Given the description of an element on the screen output the (x, y) to click on. 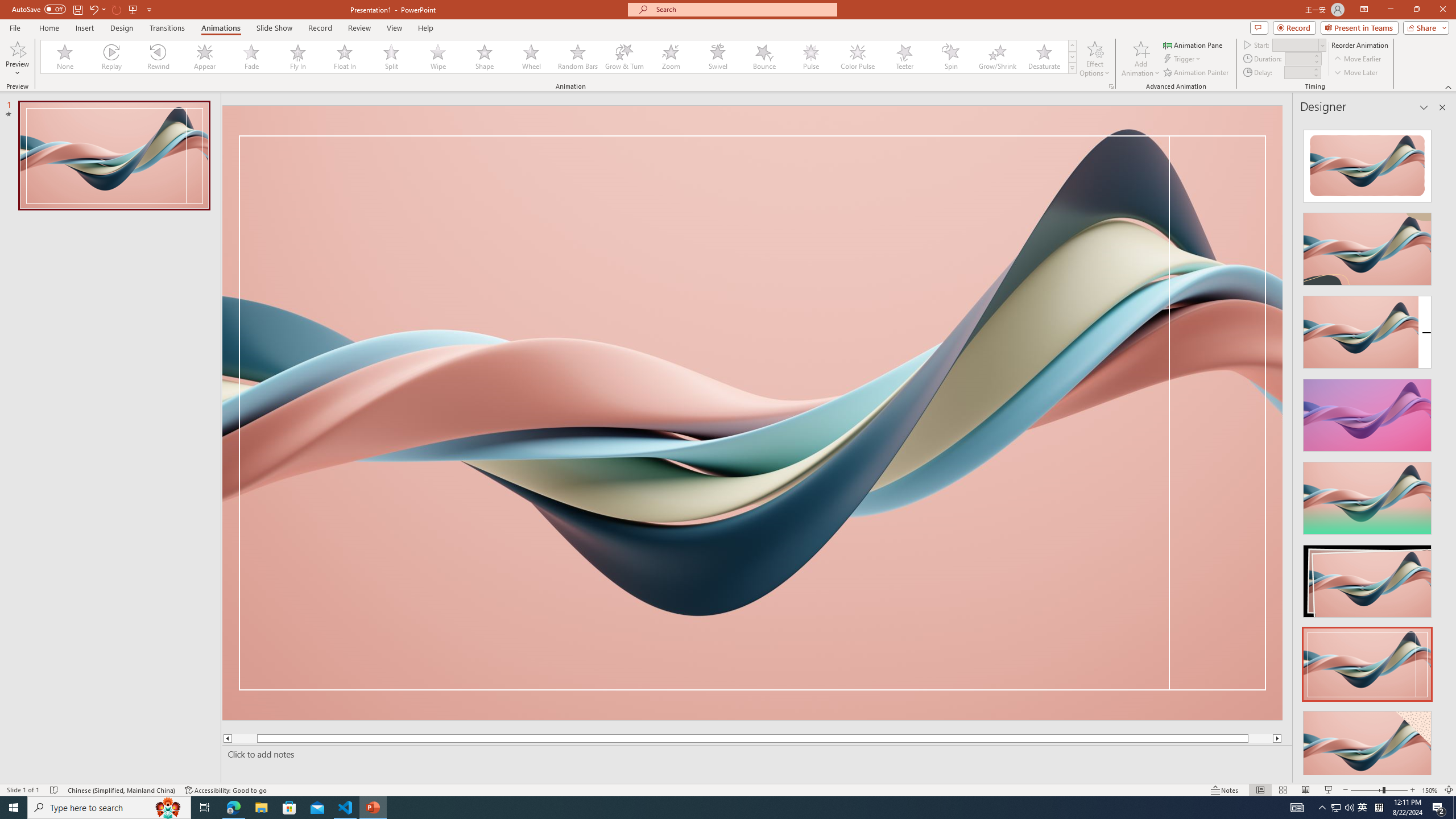
Grow/Shrink (997, 56)
Decorative Locked (752, 412)
Move Earlier (1357, 58)
More Options... (1110, 85)
Spin (950, 56)
None (65, 56)
Effect Options (1094, 58)
Wipe (437, 56)
